Given the description of an element on the screen output the (x, y) to click on. 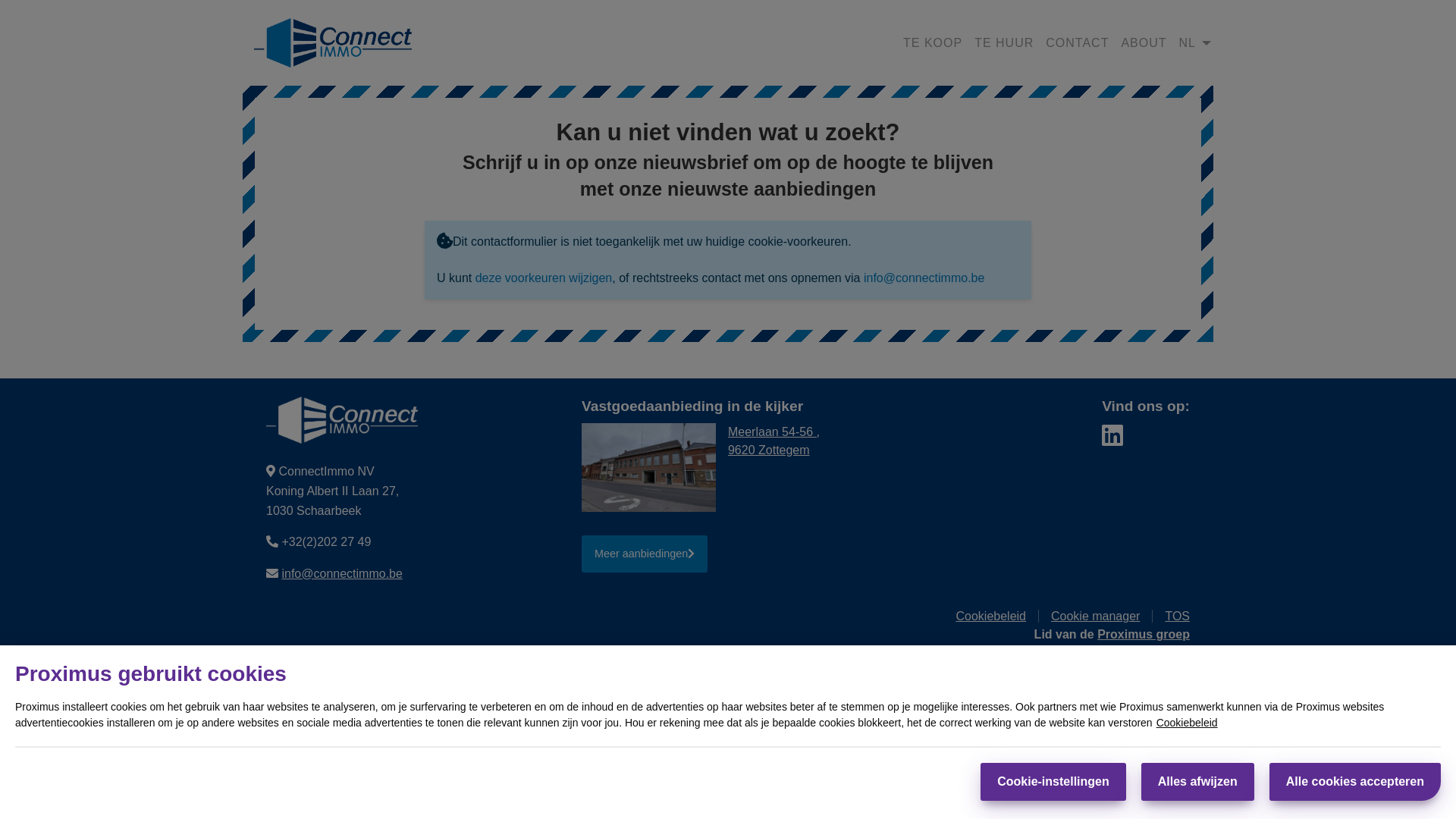
Meerlaan 54-56 ,
9620 Zottegem Element type: text (773, 439)
deze voorkeuren wijzigen Element type: text (543, 277)
info@connectimmo.be Element type: text (341, 573)
TOS Element type: text (1176, 615)
NL Element type: text (1187, 43)
Cookiebeleid Element type: text (996, 615)
Cookie manager Element type: text (1101, 615)
TE KOOP Element type: text (932, 43)
TE HUUR Element type: text (1003, 43)
Cookie-instellingen Element type: text (1053, 781)
ABOUT Element type: text (1143, 43)
Meer aanbiedingen Element type: text (644, 552)
Cookiebeleid Element type: text (1186, 722)
Alle cookies accepteren Element type: text (1354, 781)
Alles afwijzen Element type: text (1197, 781)
Proximus groep Element type: text (1143, 633)
info@connectimmo.be Element type: text (923, 277)
CONTACT Element type: text (1076, 43)
